Given the description of an element on the screen output the (x, y) to click on. 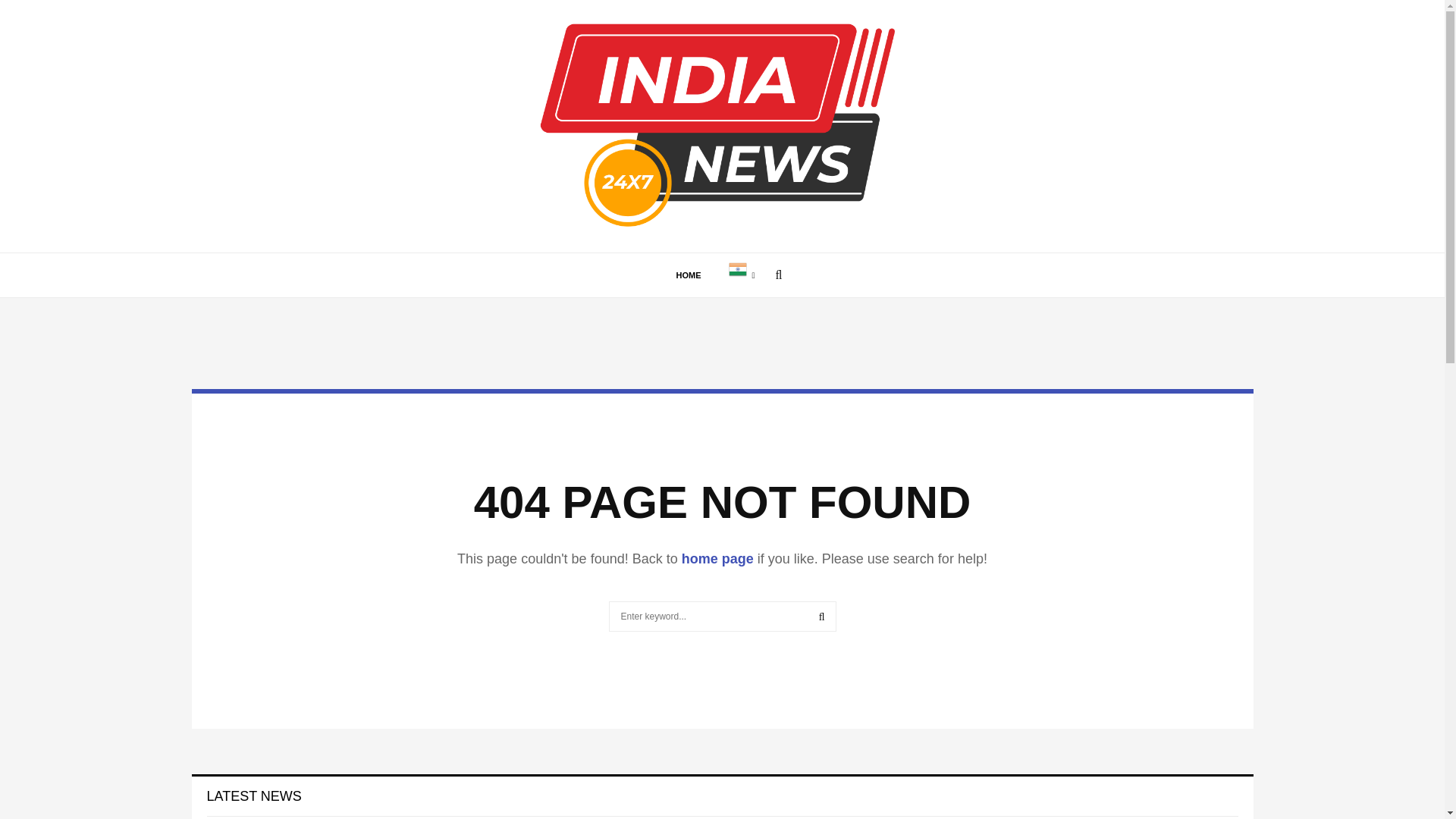
SEARCH (821, 616)
Latest News (253, 795)
HOME (688, 275)
LATEST NEWS (253, 795)
home page (717, 558)
